Given the description of an element on the screen output the (x, y) to click on. 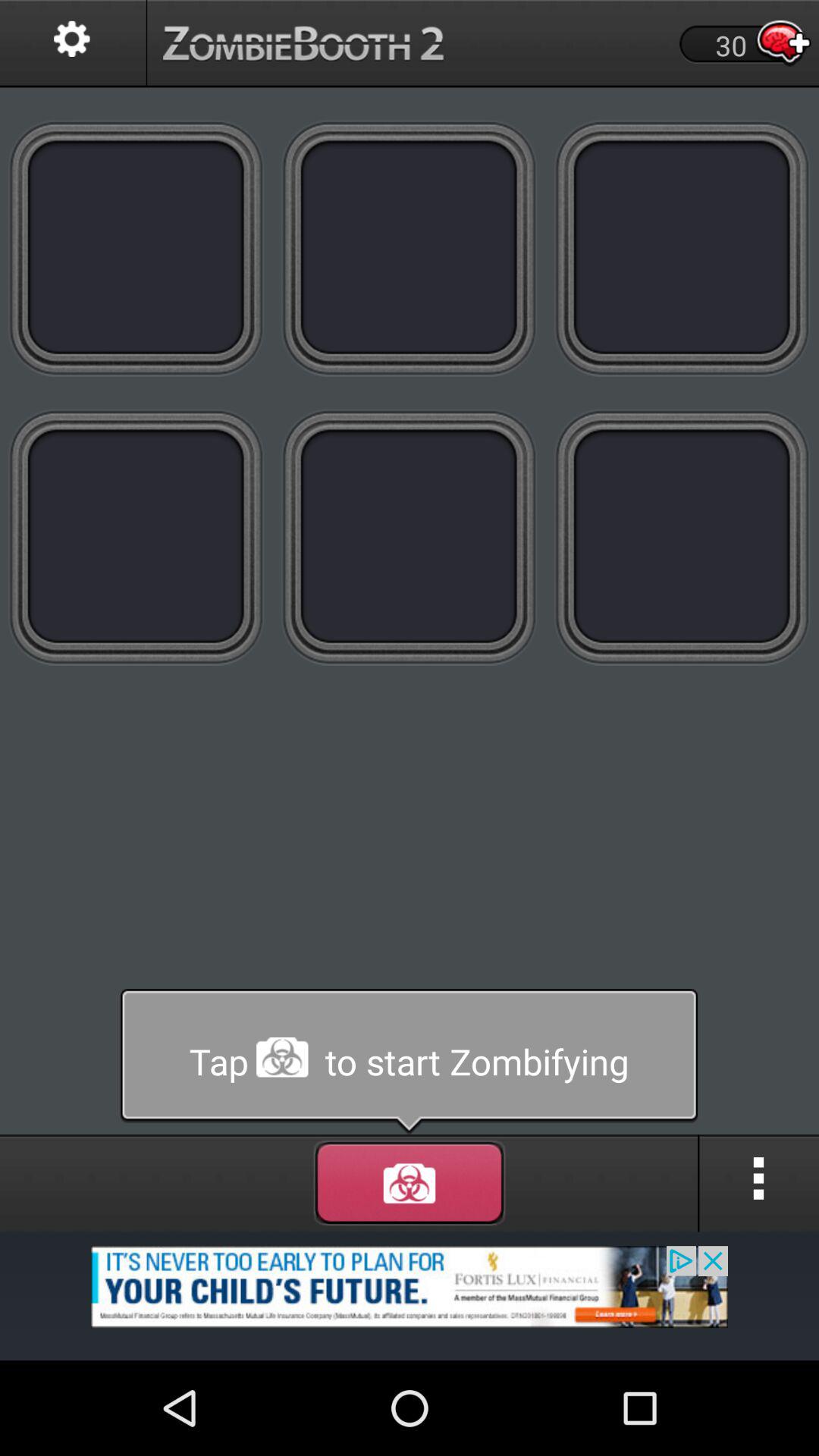
open advertisement (409, 1295)
